Given the description of an element on the screen output the (x, y) to click on. 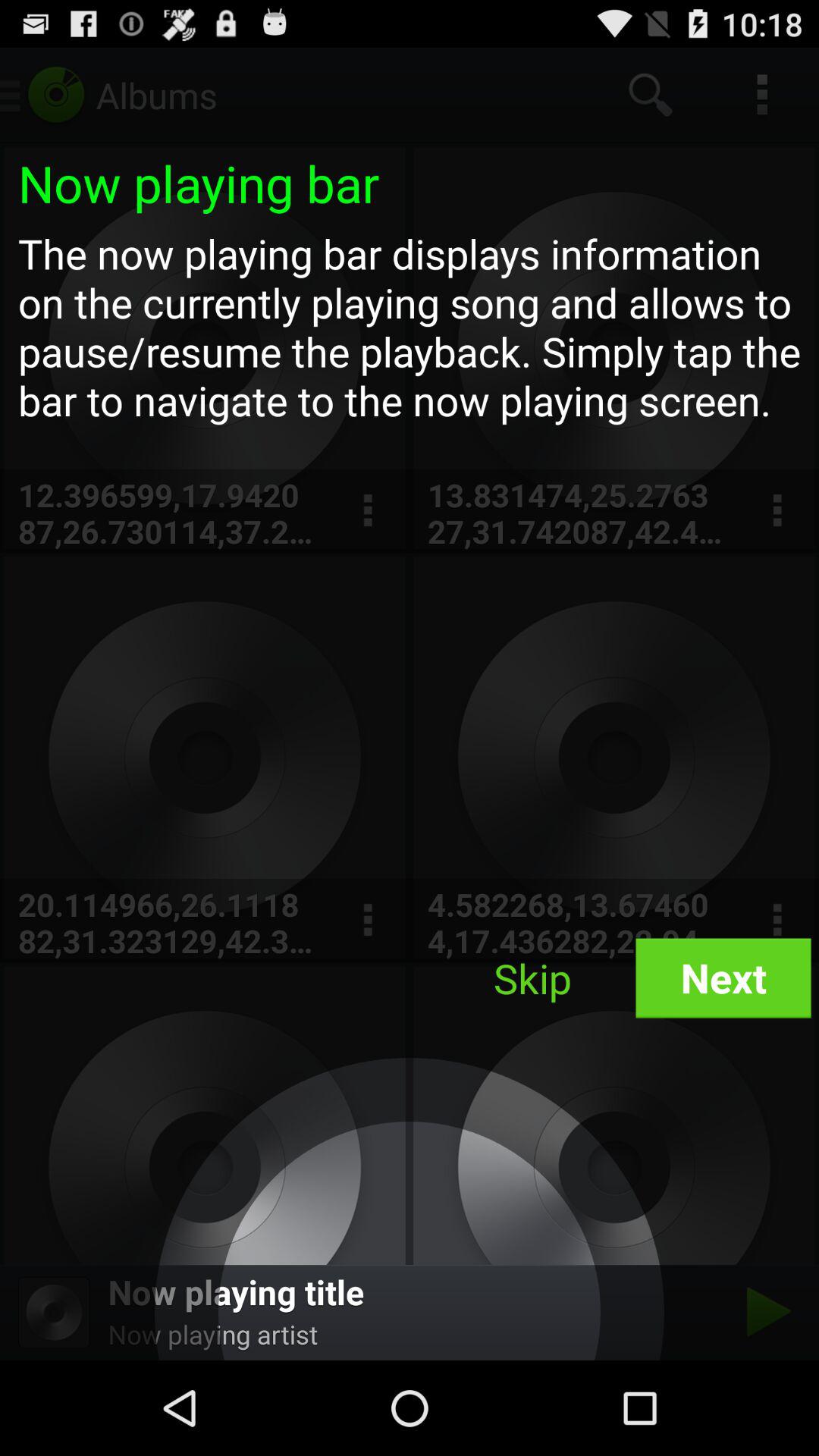
manu button (777, 510)
